Given the description of an element on the screen output the (x, y) to click on. 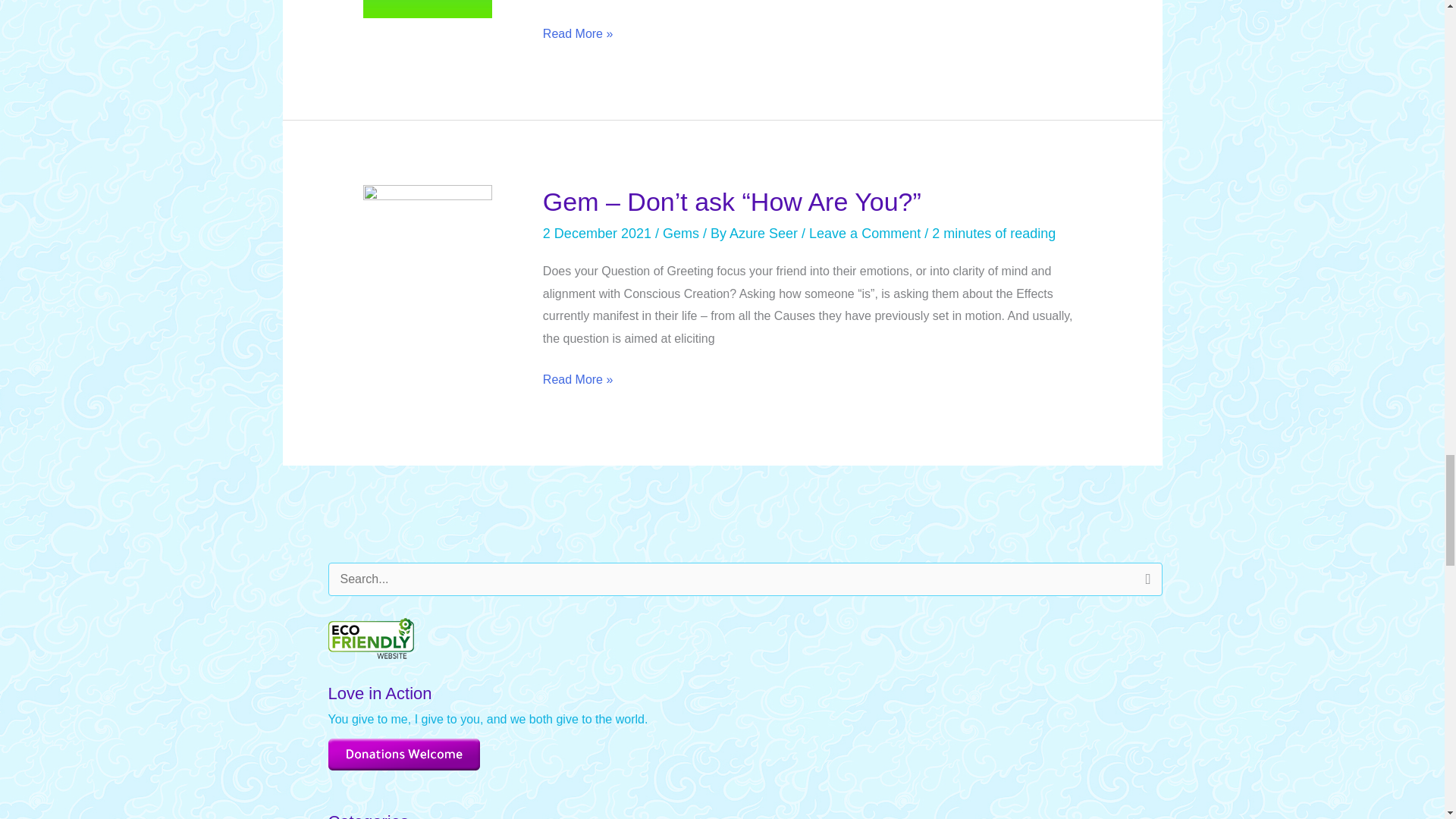
PayPal - The safer, easier way to pay online! (403, 754)
View all posts by Azure Seer (765, 233)
